Given the description of an element on the screen output the (x, y) to click on. 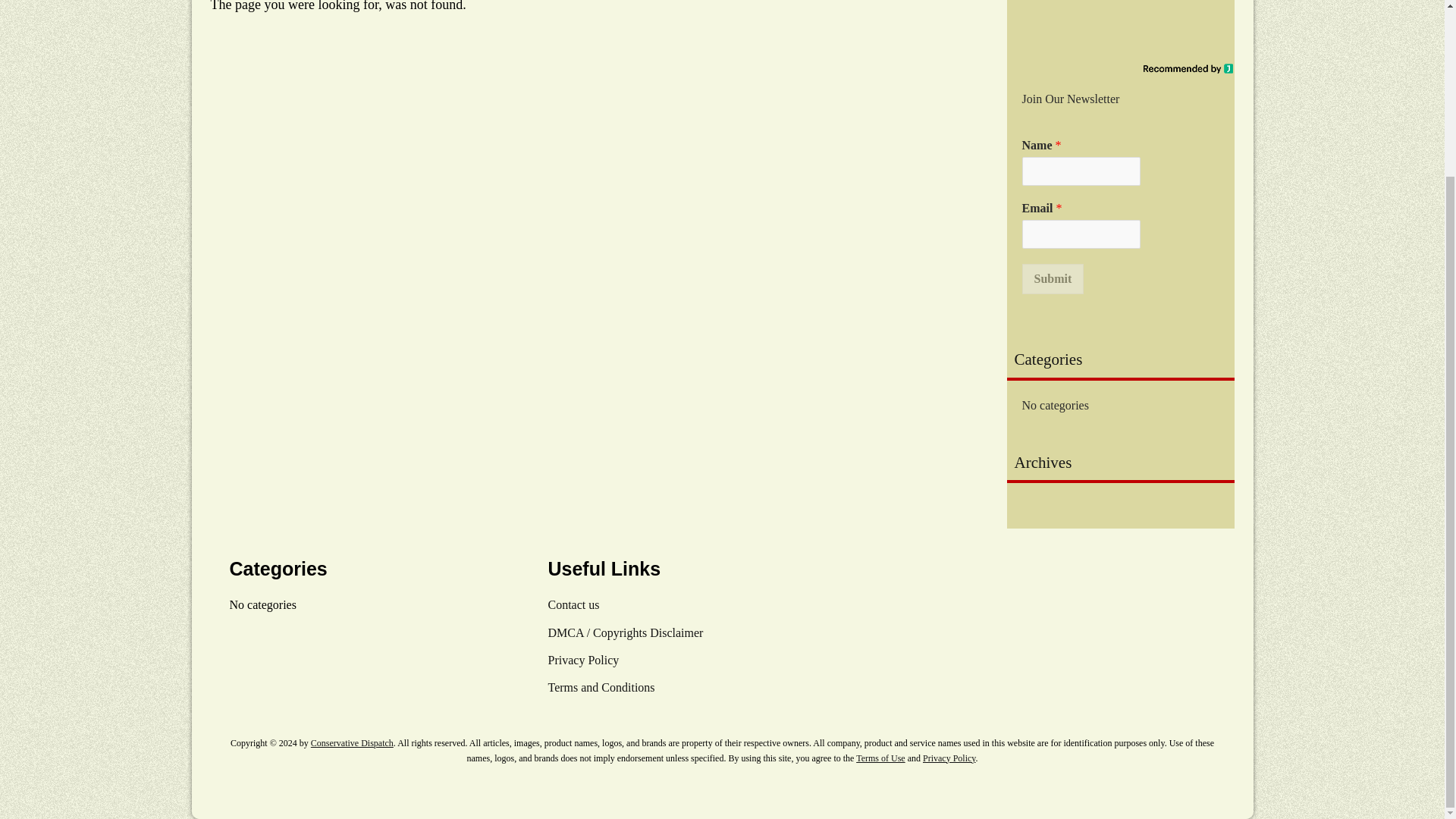
Terms and Conditions (600, 686)
Privacy Policy (949, 757)
Submit (1053, 278)
Conservative Dispatch (352, 742)
Terms of Use (880, 757)
Contact us (572, 604)
Privacy Policy (582, 659)
